Given the description of an element on the screen output the (x, y) to click on. 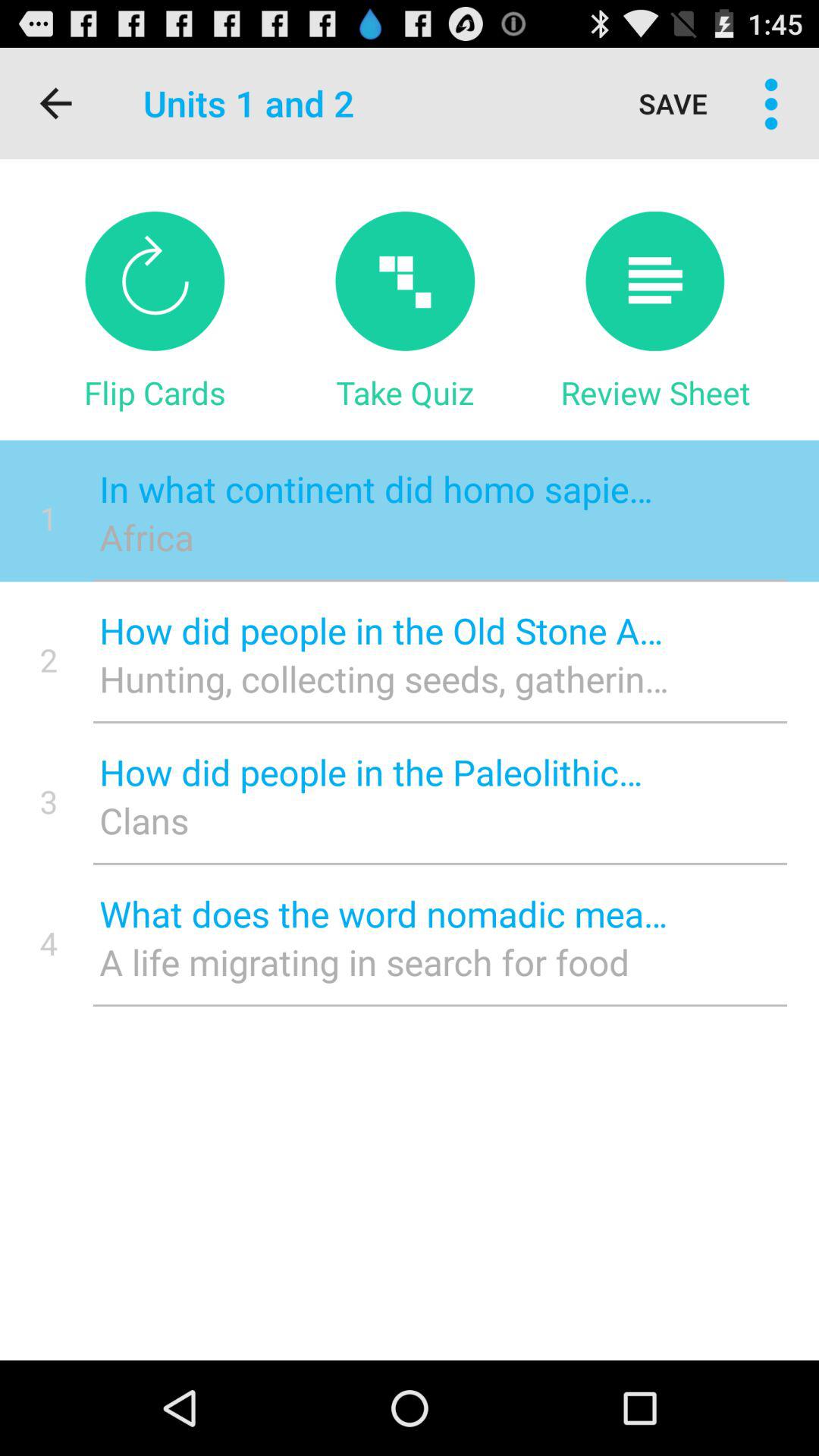
turn off the item to the right of save item (771, 103)
